Given the description of an element on the screen output the (x, y) to click on. 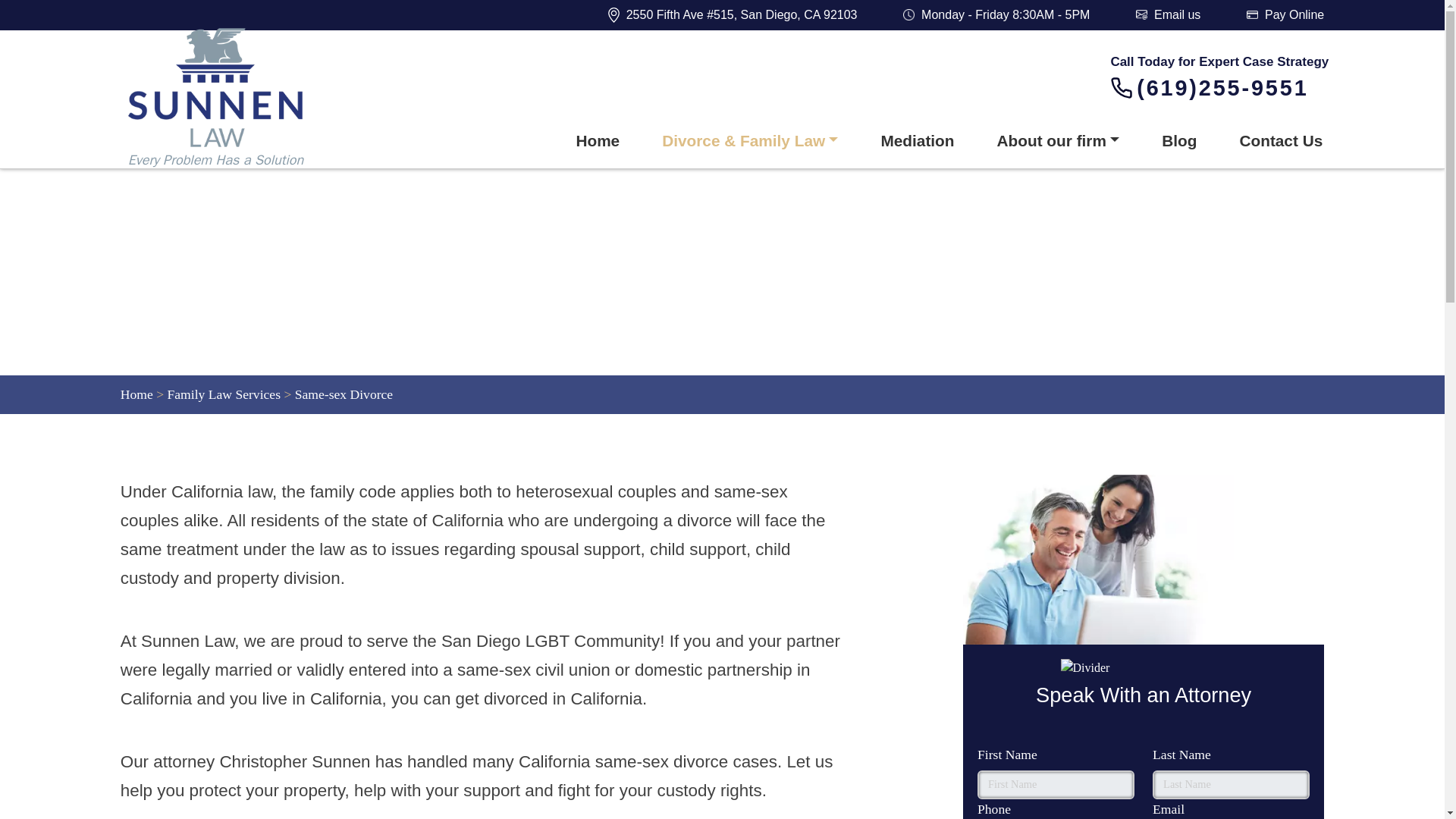
Blog (1179, 140)
About our firm (1058, 140)
Email us (1167, 14)
Home (597, 140)
Pay Online (1284, 14)
Every Problem Has a Solution (247, 99)
Home (136, 394)
Mediation (917, 140)
Contact Us (1280, 140)
Family Law Services (224, 394)
